Given the description of an element on the screen output the (x, y) to click on. 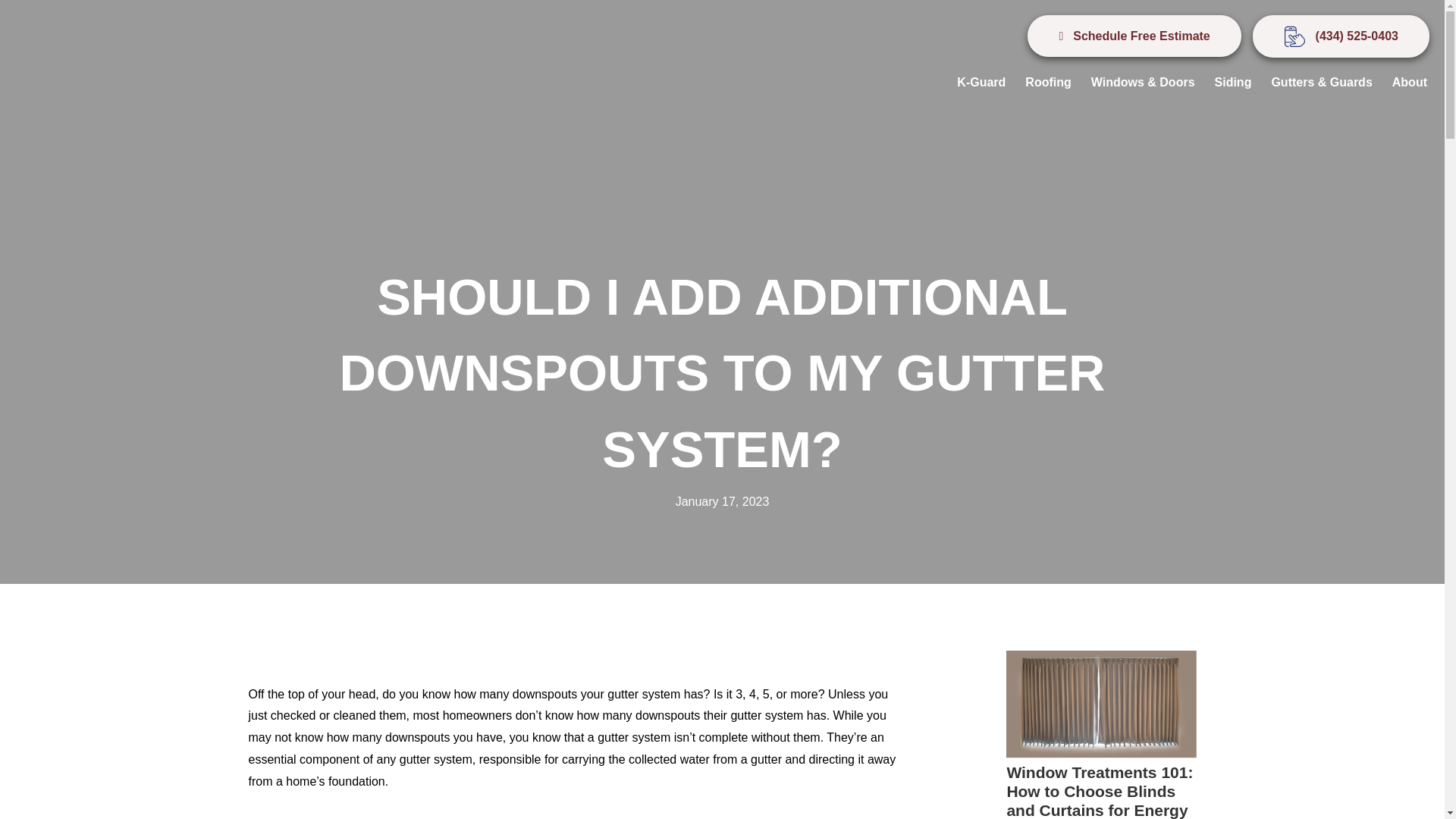
About (1409, 82)
Schedule Free Estimate (1133, 35)
K-Guard (980, 82)
Roofing (1047, 82)
Siding (1233, 82)
